Given the description of an element on the screen output the (x, y) to click on. 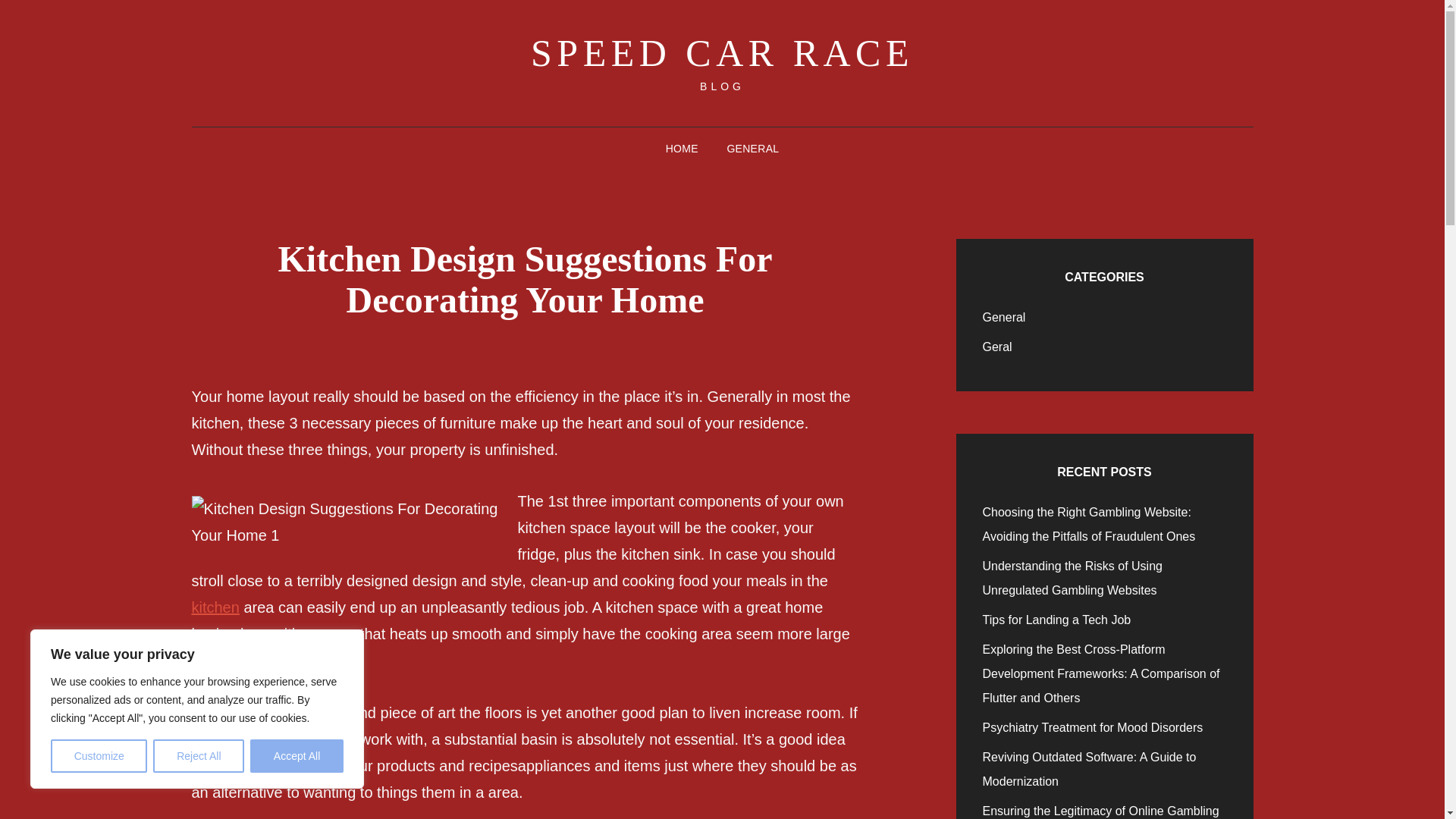
Reviving Outdated Software: A Guide to Modernization (1089, 769)
kitchen (214, 606)
Psychiatry Treatment for Mood Disorders (1093, 727)
Tips for Landing a Tech Job (1056, 619)
SPEED CAR RACE (722, 52)
Geral (996, 346)
Reject All (198, 756)
GENERAL (752, 148)
General (1004, 317)
